Given the description of an element on the screen output the (x, y) to click on. 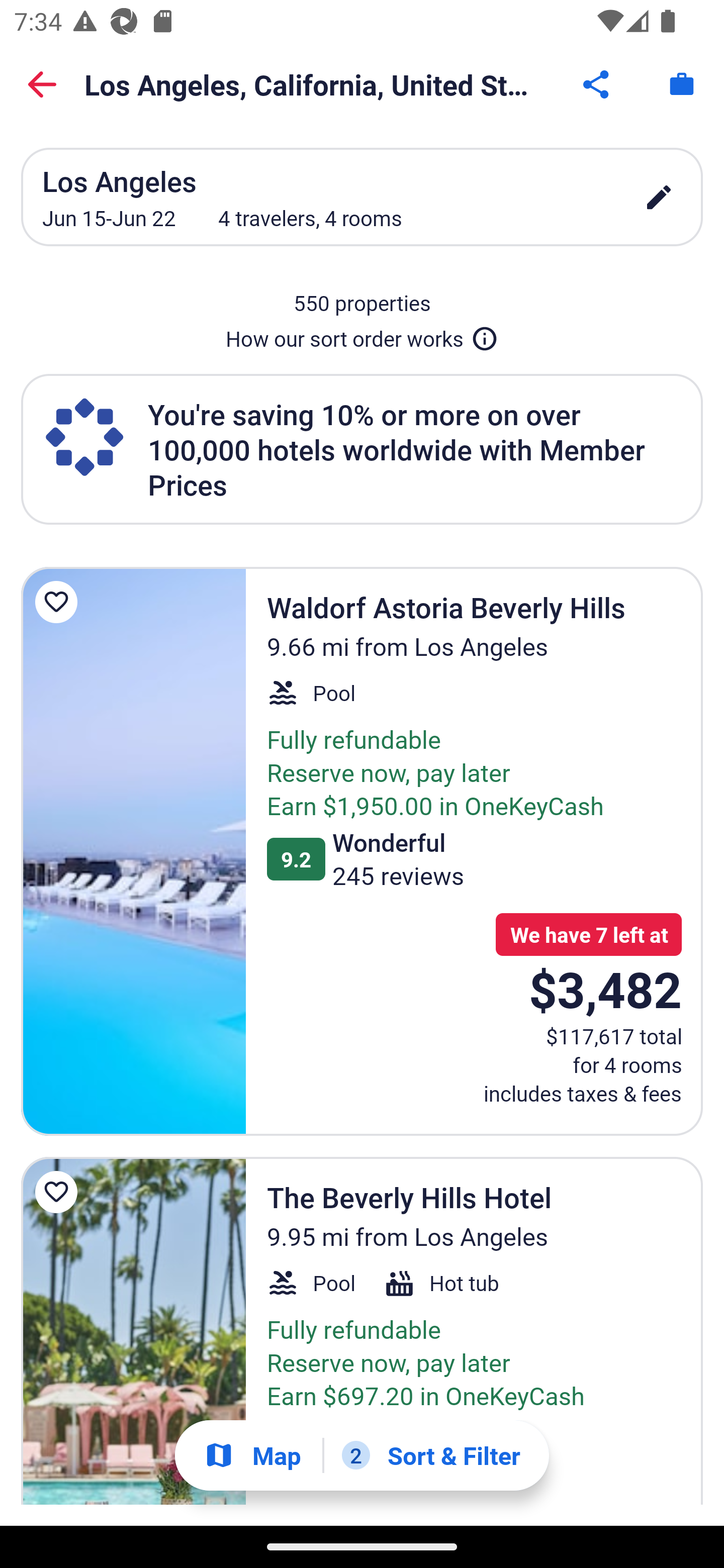
Back (42, 84)
Share Button (597, 84)
Trips. Button (681, 84)
How our sort order works (361, 334)
Save Waldorf Astoria Beverly Hills to a trip (59, 601)
Waldorf Astoria Beverly Hills (133, 851)
Save The Beverly Hills Hotel to a trip (59, 1191)
The Beverly Hills Hotel (133, 1331)
2 Sort & Filter 2 Filters applied. Filters Button (430, 1455)
Show map Map Show map Button (252, 1455)
